Given the description of an element on the screen output the (x, y) to click on. 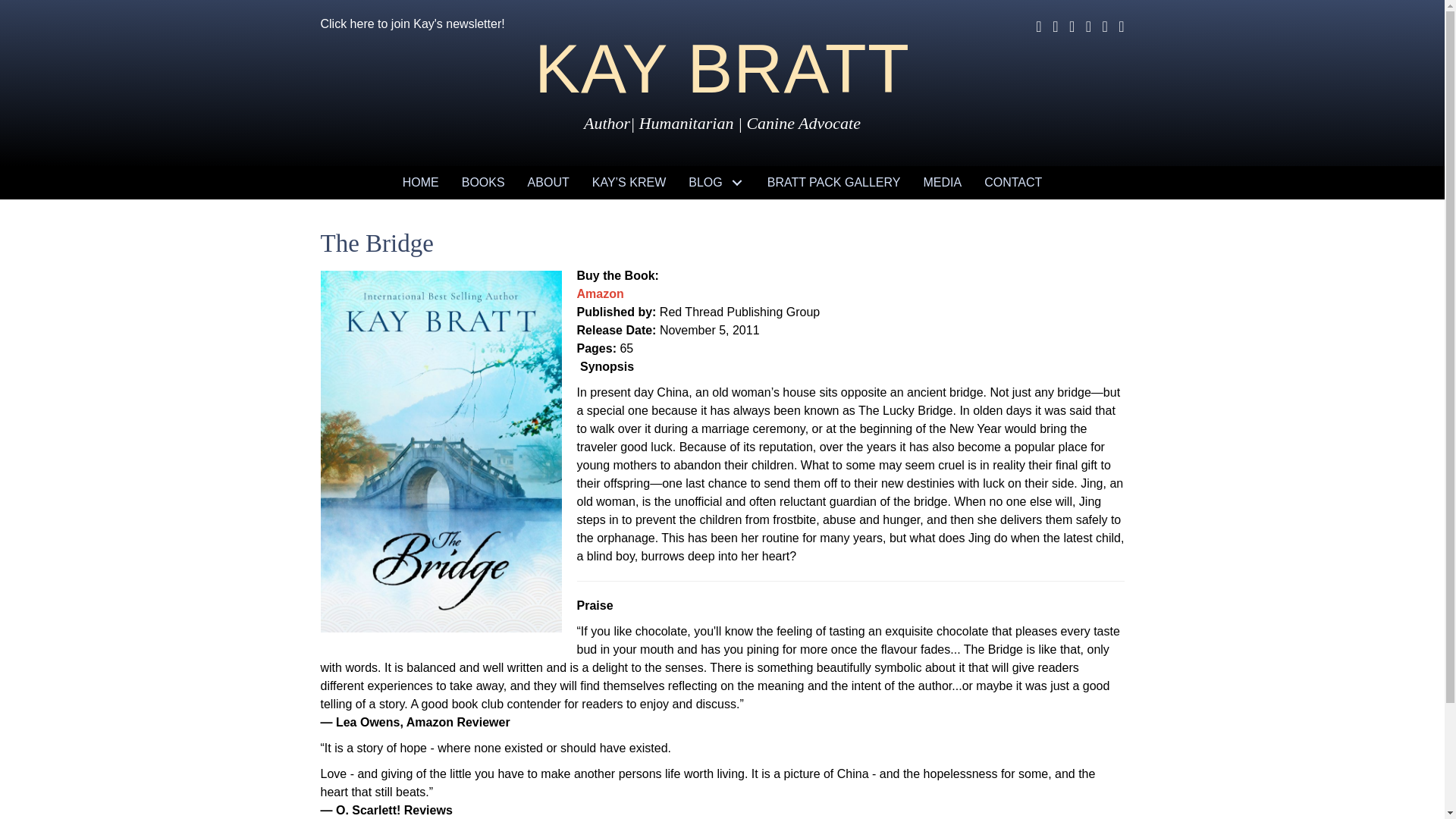
Kay Bratt (722, 69)
BOOKS (482, 182)
ABOUT (548, 182)
HOME (420, 182)
BLOG (716, 182)
CONTACT (1012, 182)
MEDIA (941, 182)
Amazon (599, 293)
Click here to join Kay's newsletter! (411, 23)
BRATT PACK GALLERY (833, 182)
